Given the description of an element on the screen output the (x, y) to click on. 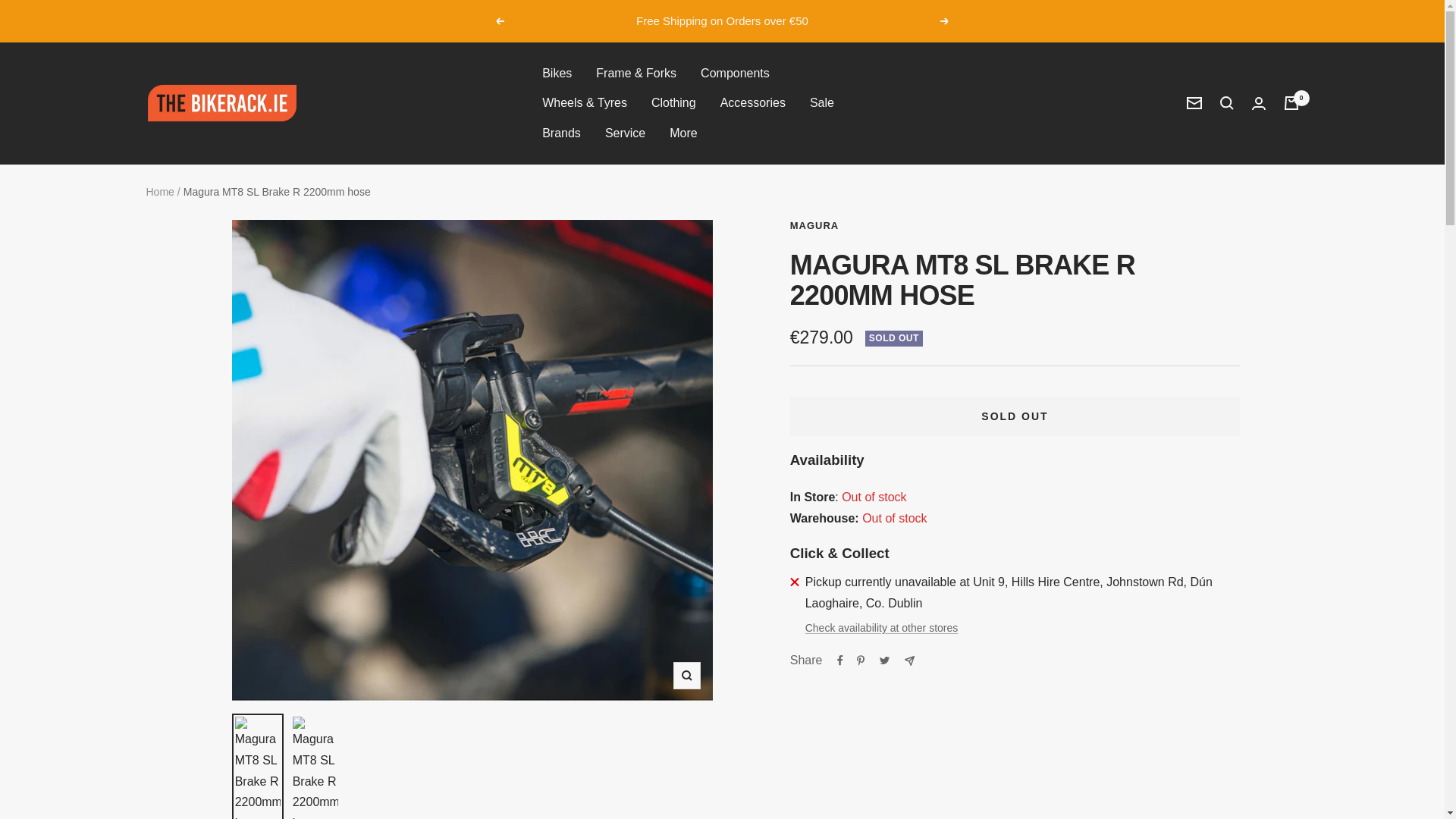
0 (1291, 102)
Service (625, 133)
Previous (499, 21)
Next (944, 21)
More (683, 133)
Zoom (686, 675)
Accessories (753, 102)
Sale (821, 102)
SOLD OUT (1015, 415)
Newsletter (1194, 102)
